Given the description of an element on the screen output the (x, y) to click on. 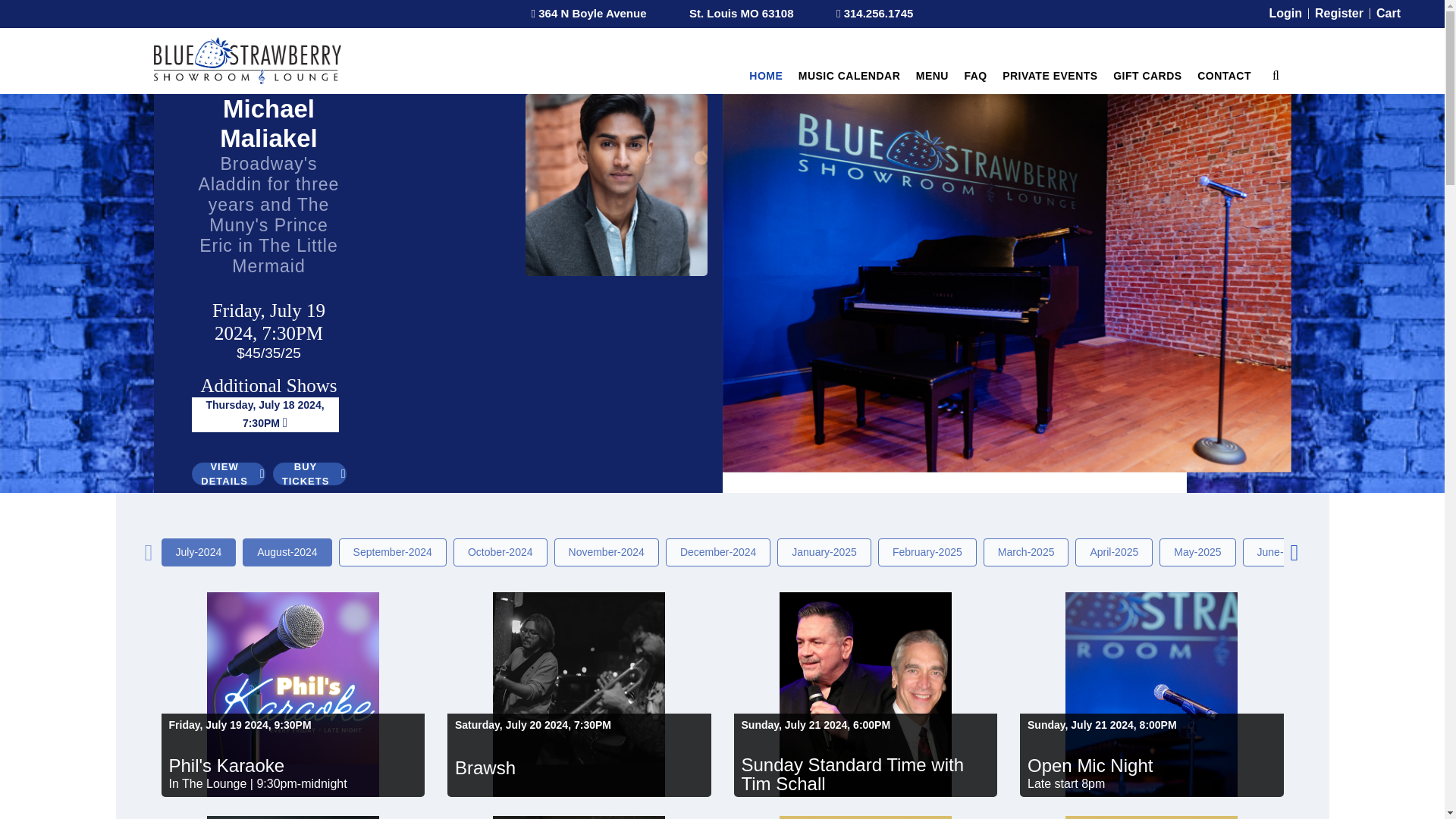
GIFT CARDS (1147, 76)
Cart (1387, 13)
April-2025 (1114, 552)
December-2024 (717, 552)
CONTACT (1224, 76)
June-2025 (1282, 552)
Login (1284, 13)
Open Mic Night (1151, 761)
PRIVATE EVENTS (1049, 76)
MUSIC CALENDAR (849, 76)
Late start 8pm (1151, 783)
September-2024 (392, 552)
Brawsh (578, 764)
364 N Boyle Avenue (588, 13)
May-2025 (1196, 552)
